Given the description of an element on the screen output the (x, y) to click on. 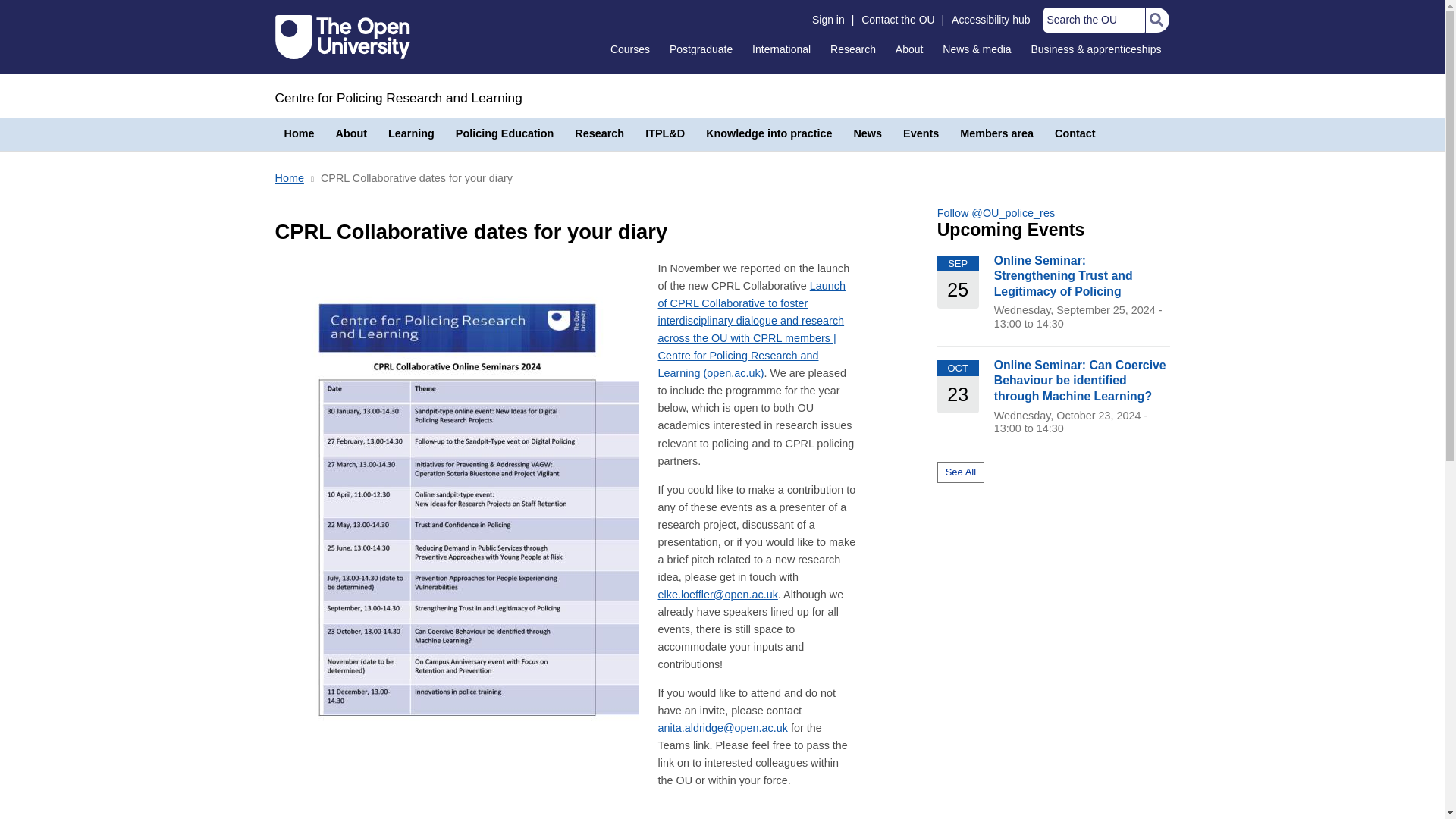
About (350, 133)
Search (1156, 19)
About (908, 49)
Accessibility hub (990, 19)
Courses (630, 49)
Members area (996, 133)
Sign in (828, 19)
Research (852, 49)
Events (920, 133)
Research (599, 133)
Learning (411, 133)
News (867, 133)
Centre for Policing Research and Learning (398, 97)
Contact the OU (898, 19)
